Given the description of an element on the screen output the (x, y) to click on. 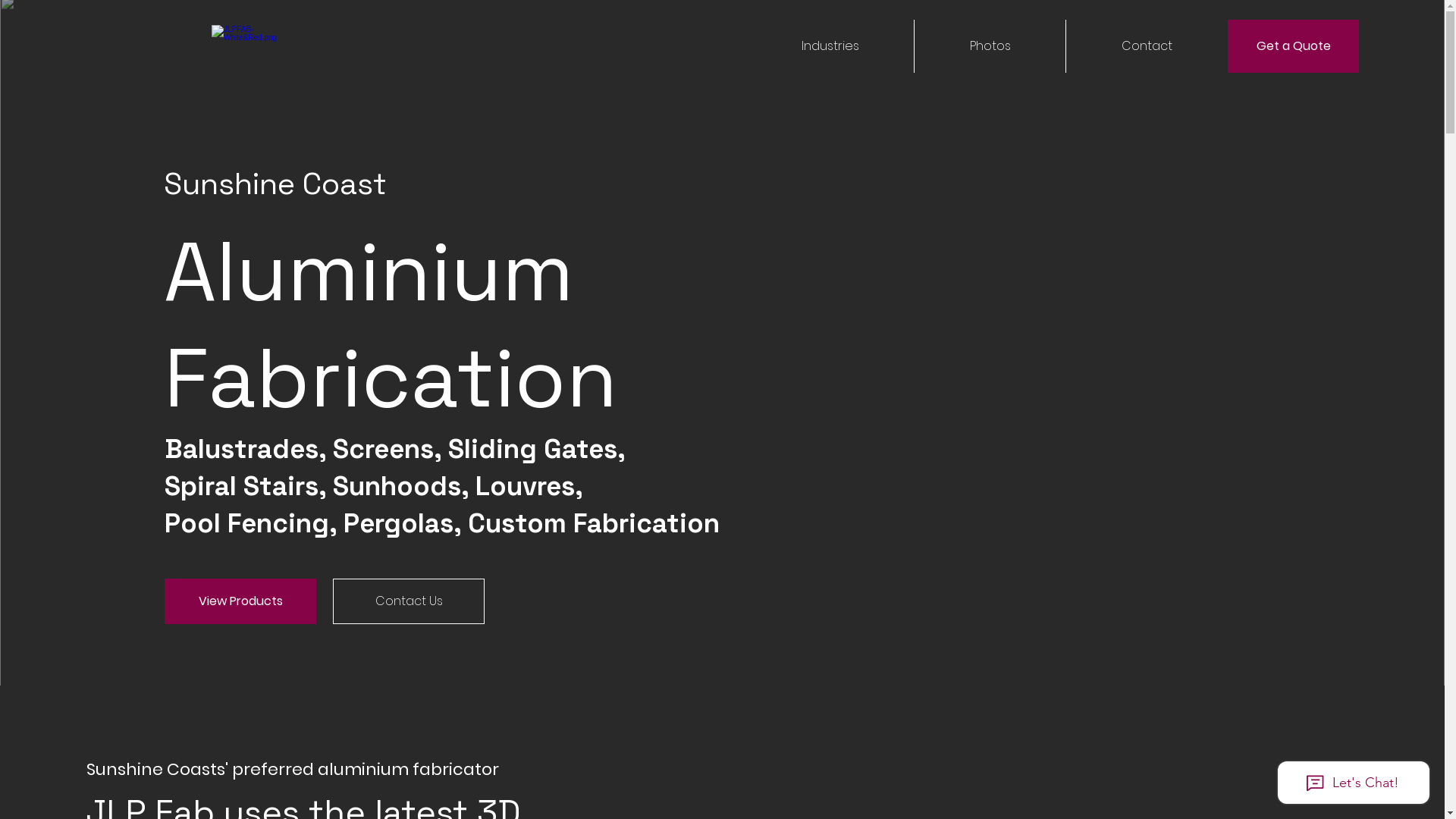
Contact Us Element type: text (408, 601)
Contact Element type: text (1145, 45)
Industries Element type: text (829, 45)
Photos Element type: text (989, 45)
Get a Quote Element type: text (1292, 45)
View Products Element type: text (240, 601)
